Given the description of an element on the screen output the (x, y) to click on. 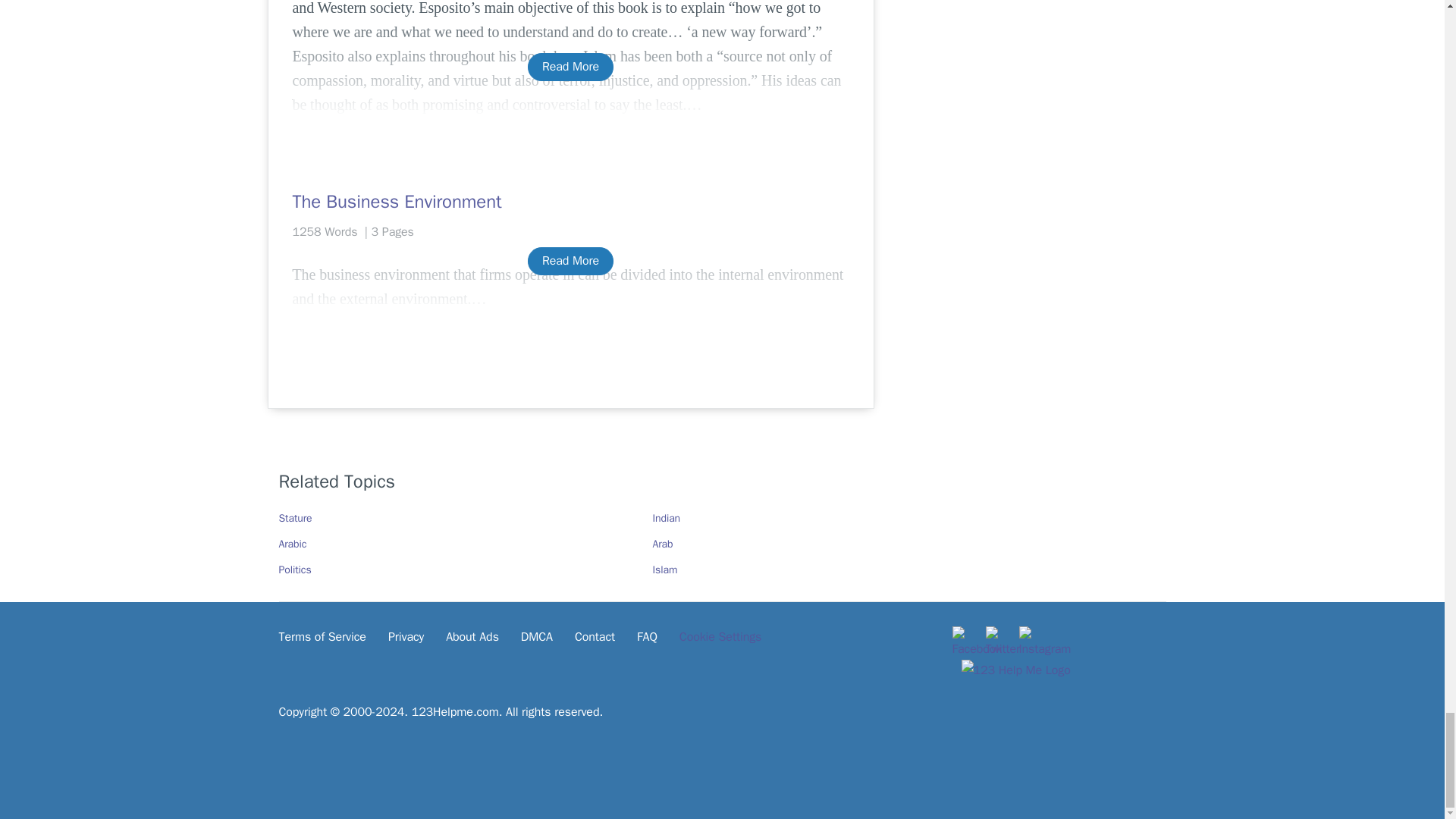
Arabic (293, 543)
Islam (664, 569)
Arab (662, 543)
Politics (295, 569)
Stature (296, 517)
Indian (665, 517)
